Given the description of an element on the screen output the (x, y) to click on. 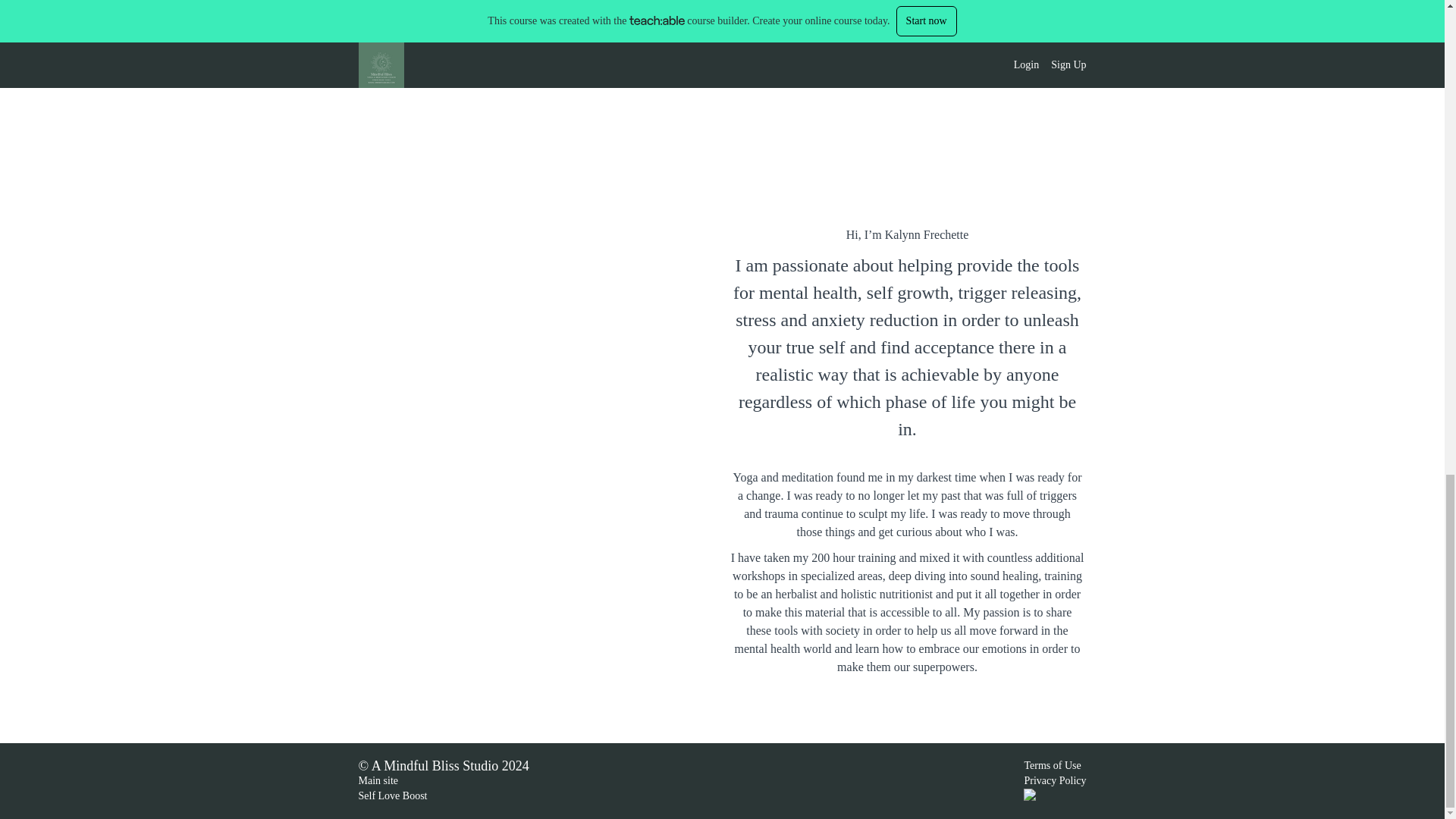
Self Love Boost (392, 795)
Terms of Use (1051, 765)
Main site (377, 780)
Privacy Policy (1054, 780)
